Given the description of an element on the screen output the (x, y) to click on. 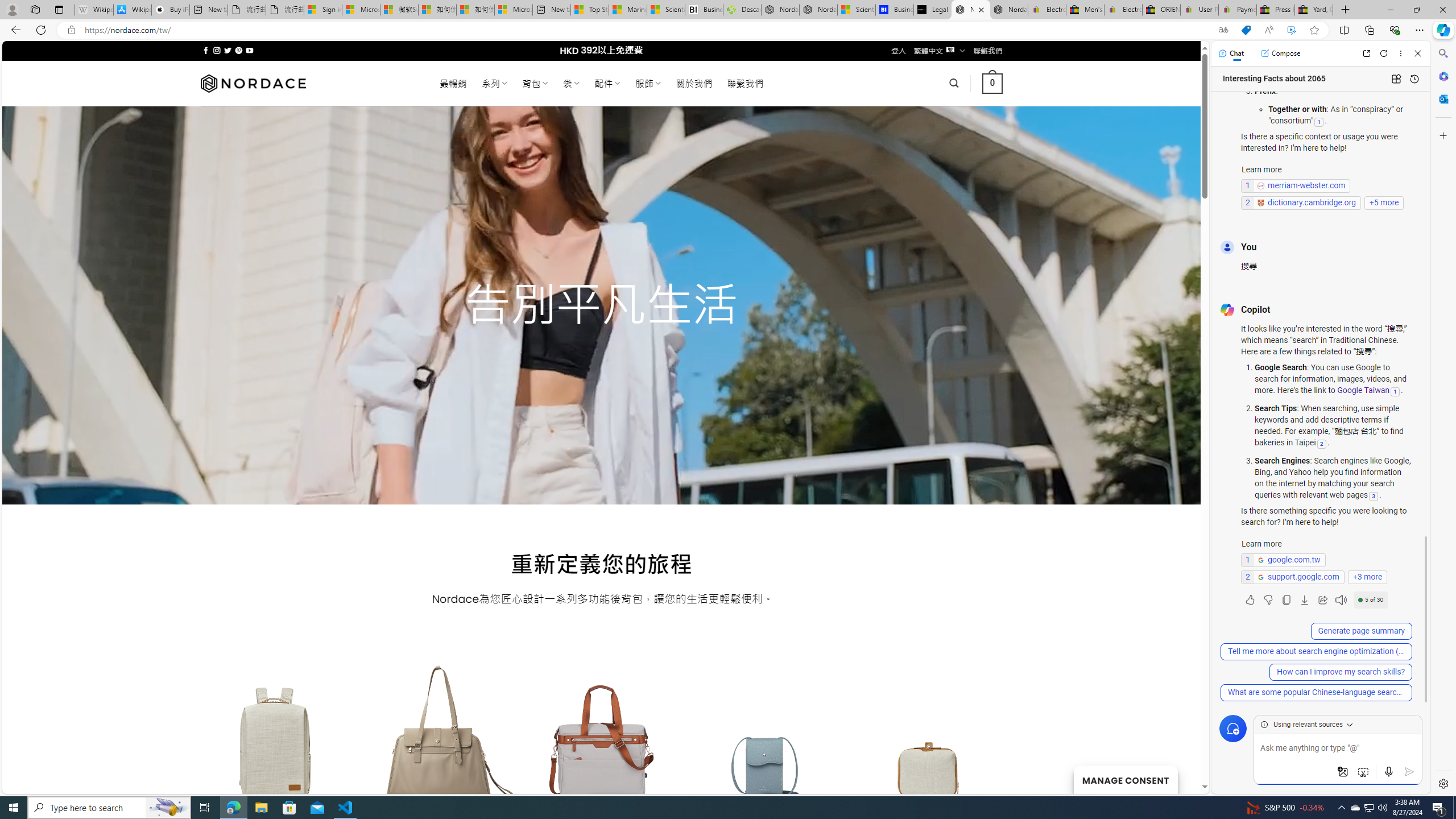
 0  (992, 83)
Compose (1280, 52)
Enhance video (1291, 29)
